Given the description of an element on the screen output the (x, y) to click on. 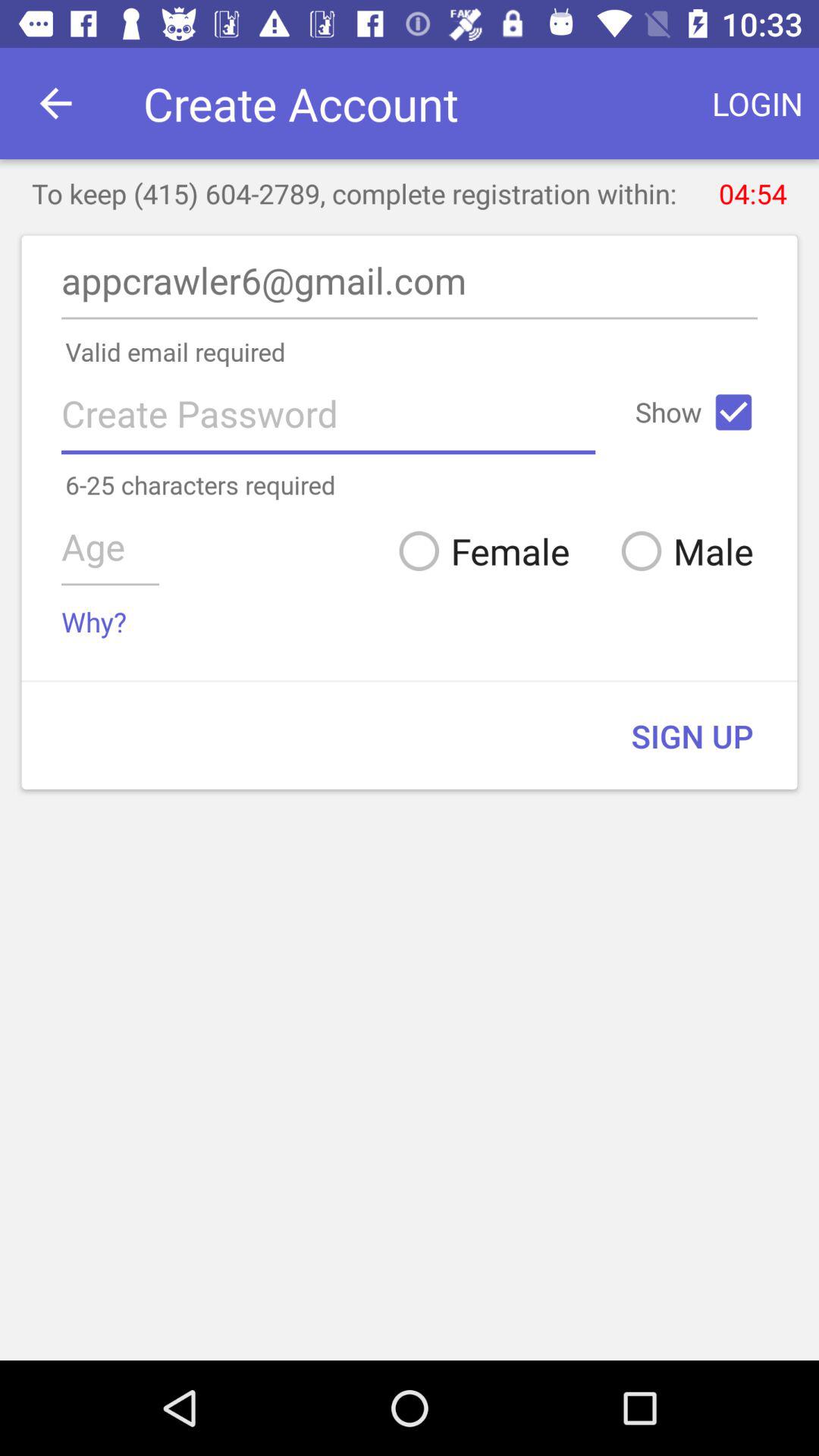
swipe until female (478, 550)
